Given the description of an element on the screen output the (x, y) to click on. 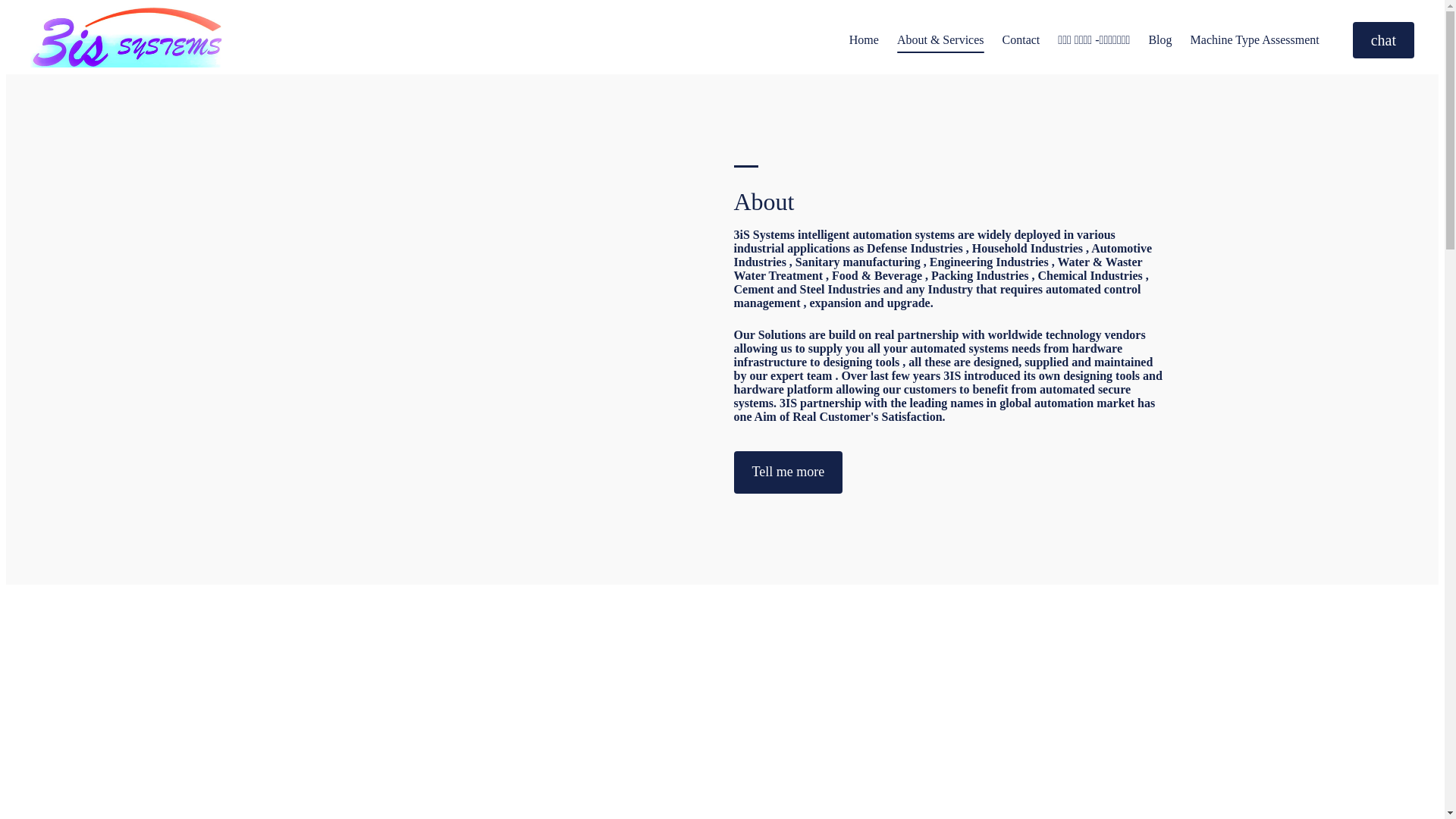
Contact Element type: text (1021, 40)
Blog Element type: text (1159, 40)
Tell me more Element type: text (788, 472)
Home Element type: text (864, 40)
chat Element type: text (1383, 39)
Machine Type Assessment Element type: text (1254, 40)
About & Services Element type: text (940, 40)
